Given the description of an element on the screen output the (x, y) to click on. 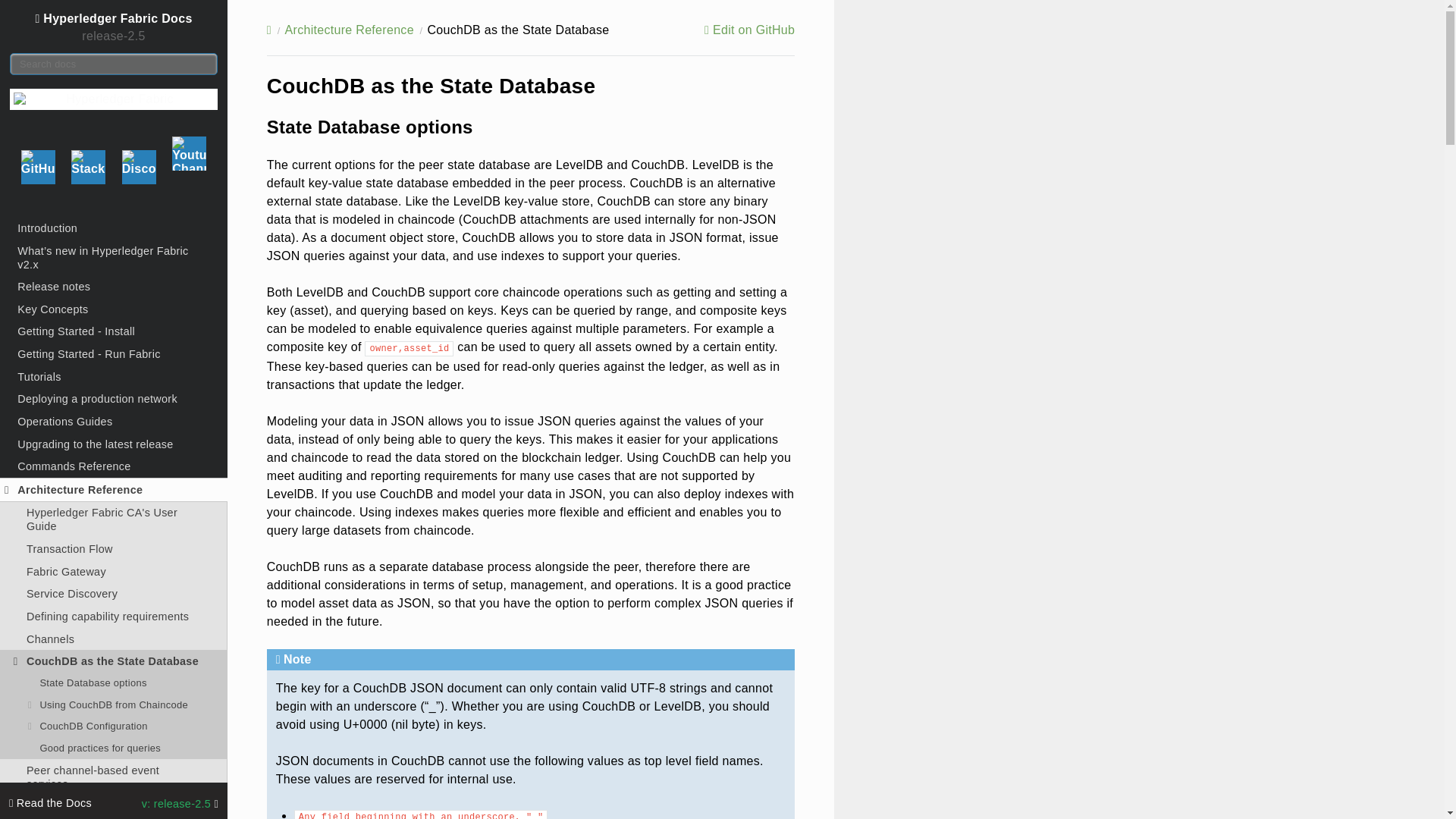
Architecture Reference (113, 489)
Deploying a production network (113, 398)
Private Data (113, 805)
Channels (113, 639)
Defining capability requirements (113, 616)
Introduction (113, 228)
Operations Guides (113, 421)
Hyperledger Fabric CA's User Guide (113, 520)
Commands Reference (113, 466)
Hyperledger Fabric Docs (113, 17)
State Database options (113, 682)
Service Discovery (113, 593)
Getting Started - Run Fabric (113, 354)
Peer channel-based event services (113, 777)
Tutorials (113, 376)
